Given the description of an element on the screen output the (x, y) to click on. 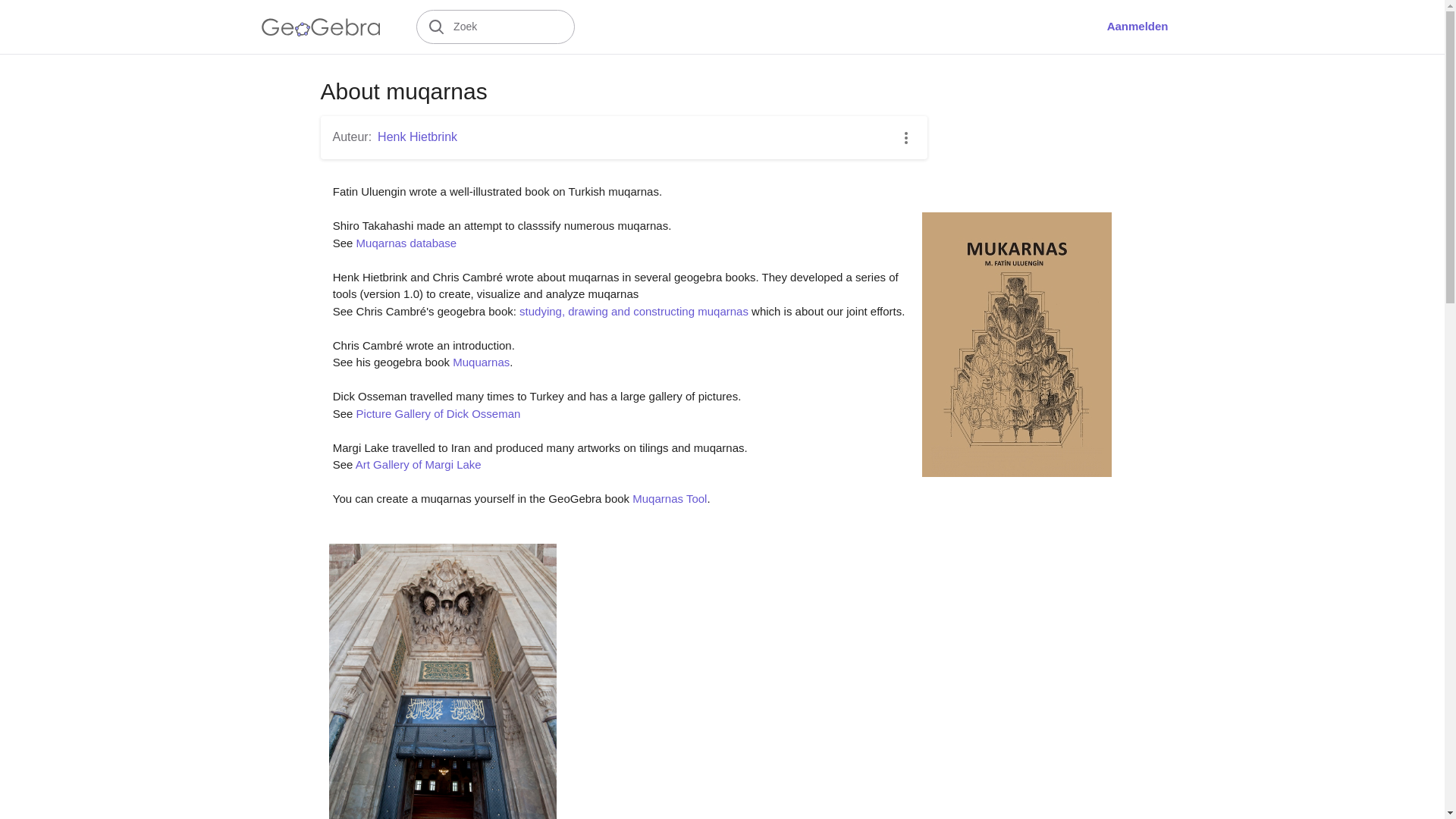
Muqarnas Tool (668, 498)
Henk Hietbrink (417, 136)
Picture Gallery of Dick Osseman (438, 413)
Muquarnas (480, 361)
Art Gallery of Margi Lake (418, 463)
Aanmelden (1137, 27)
Muqarnas database (406, 242)
studying, drawing and constructing muqarnas (633, 310)
